Given the description of an element on the screen output the (x, y) to click on. 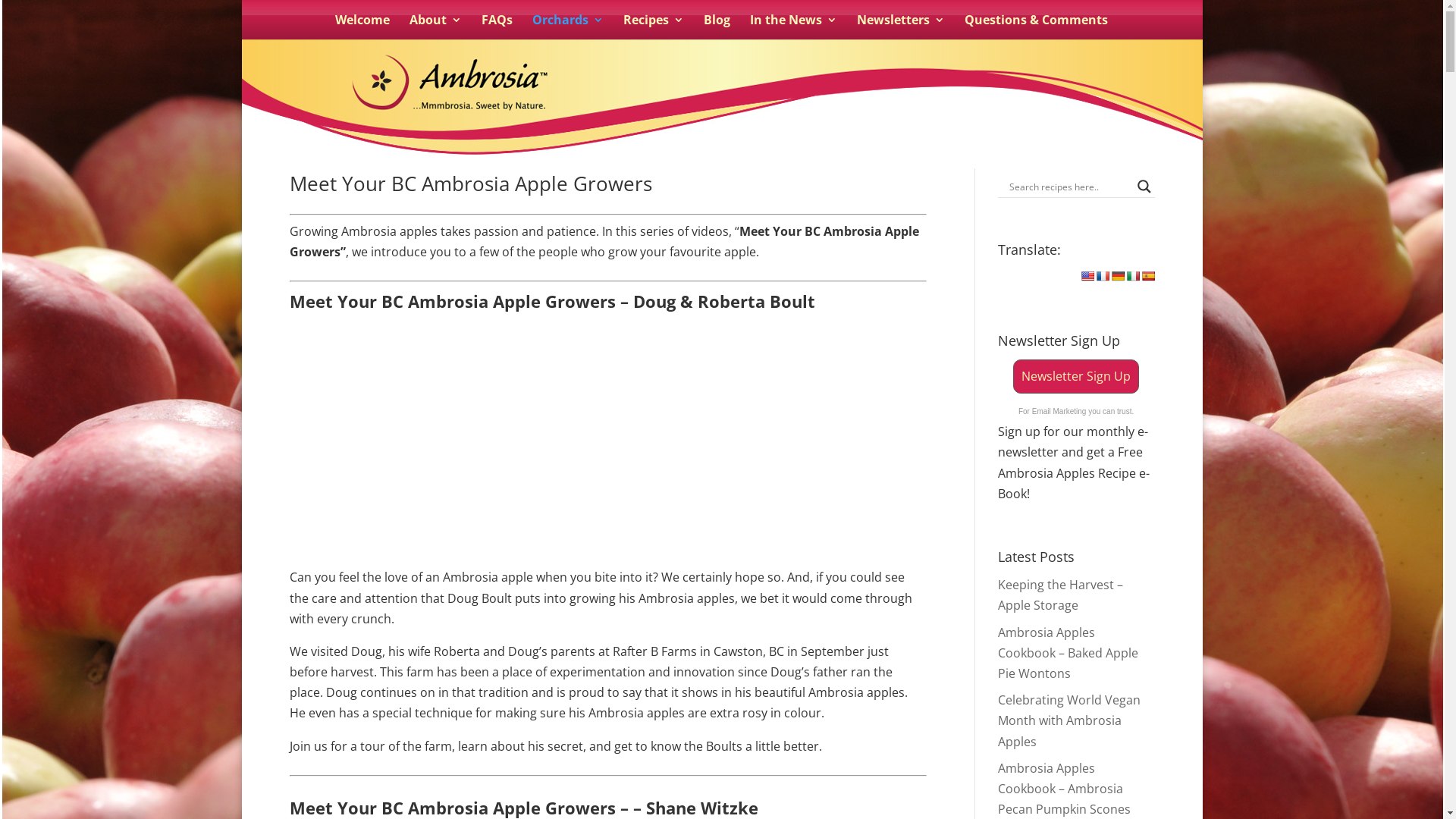
Welcome Element type: text (362, 26)
Newsletters Element type: text (900, 26)
French Element type: hover (1102, 275)
Spanish Element type: hover (1147, 275)
Blog Element type: text (716, 26)
Recipes Element type: text (653, 26)
Newsletter Sign Up Element type: text (1076, 376)
Italian Element type: hover (1132, 275)
About Element type: text (435, 26)
Questions & Comments Element type: text (1035, 26)
English Element type: hover (1087, 275)
Orchards Element type: text (567, 26)
Celebrating World Vegan Month with Ambrosia Apples Element type: text (1068, 720)
In the News Element type: text (793, 26)
FAQs Element type: text (496, 26)
German Element type: hover (1117, 275)
